Given the description of an element on the screen output the (x, y) to click on. 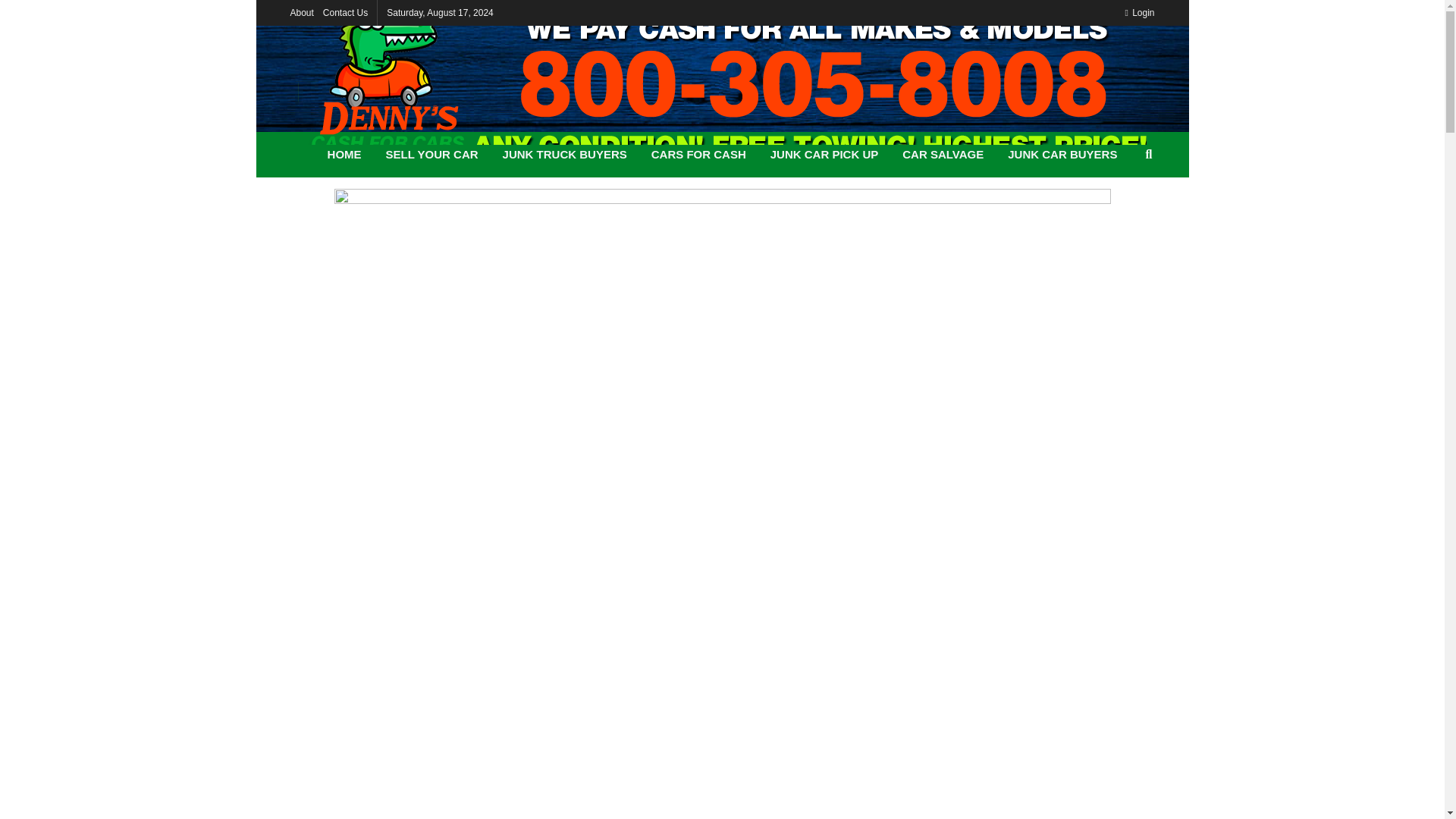
HOME (344, 154)
Contact Us (345, 12)
JUNK CAR BUYERS (1062, 154)
CARS FOR CASH (698, 154)
SELL YOUR CAR (432, 154)
About (301, 12)
Login (1139, 12)
JUNK TRUCK BUYERS (564, 154)
CAR SALVAGE (942, 154)
JUNK CAR PICK UP (824, 154)
